Given the description of an element on the screen output the (x, y) to click on. 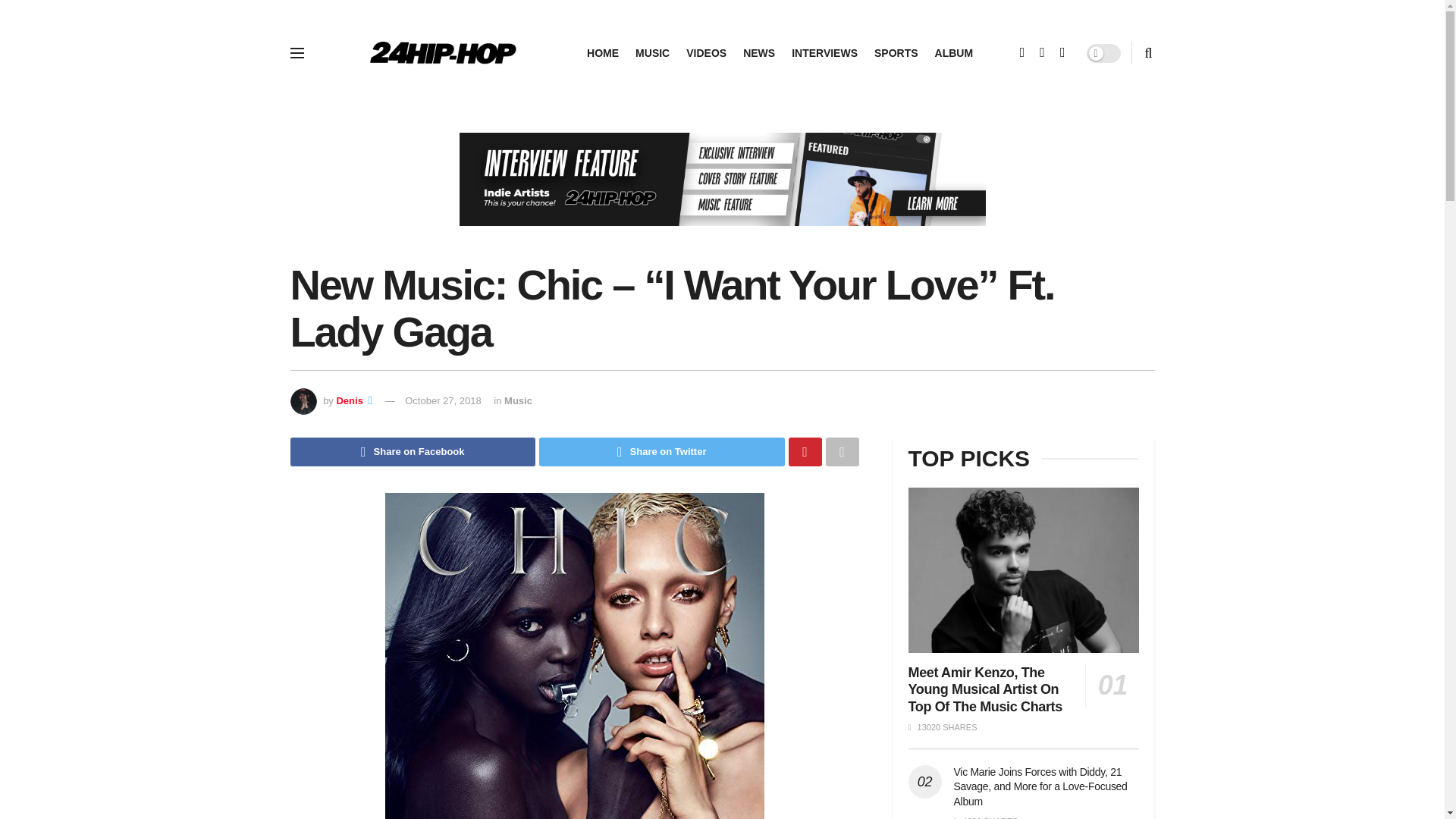
VIDEOS (705, 52)
MUSIC (651, 52)
HOME (602, 52)
Music (517, 400)
October 27, 2018 (442, 400)
Share on Twitter (661, 451)
NEWS (758, 52)
INTERVIEWS (824, 52)
Share on Facebook (412, 451)
ALBUM (954, 52)
Denis (349, 400)
SPORTS (896, 52)
